Given the description of an element on the screen output the (x, y) to click on. 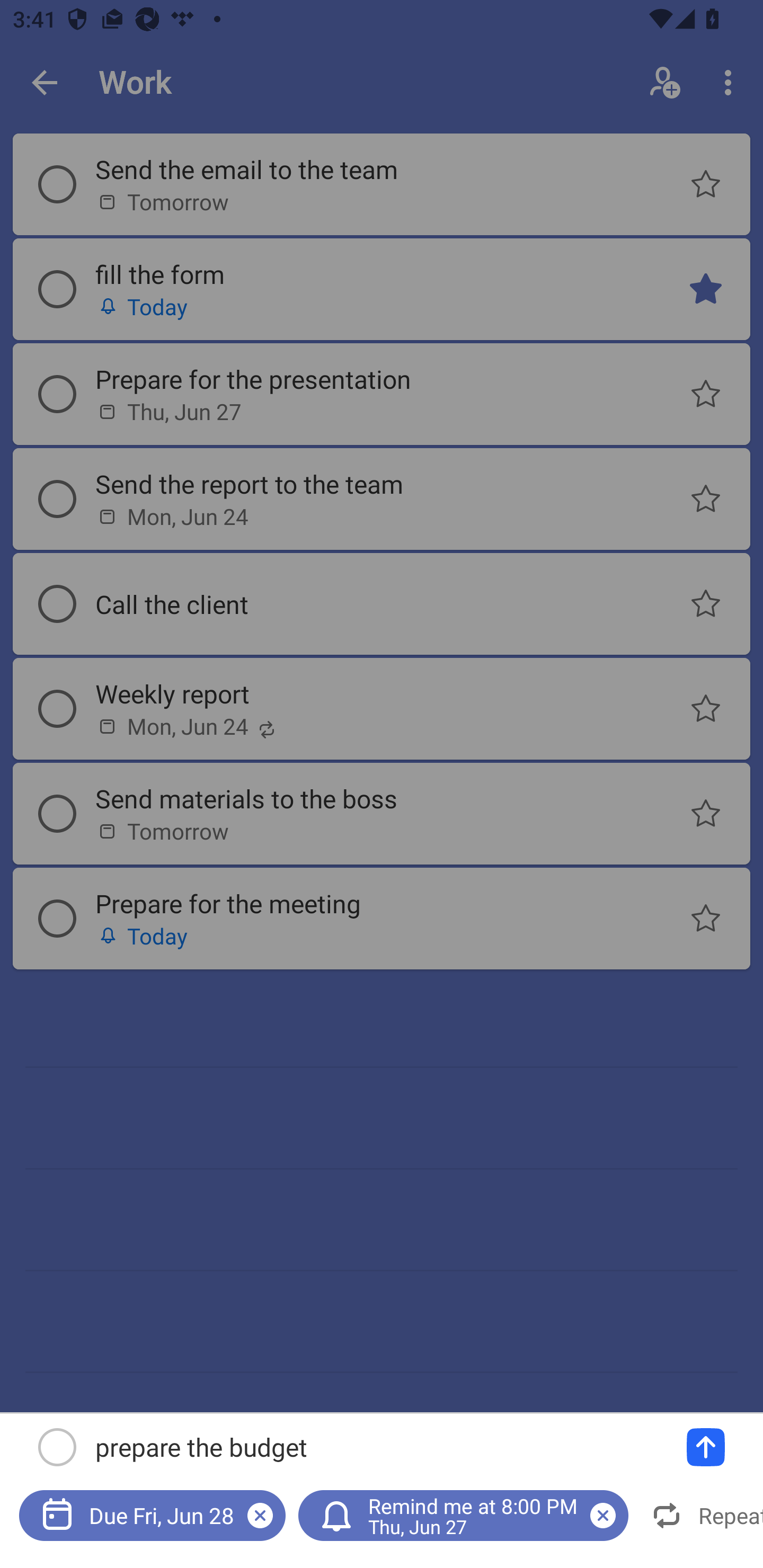
Add a task (705, 1446)
